Given the description of an element on the screen output the (x, y) to click on. 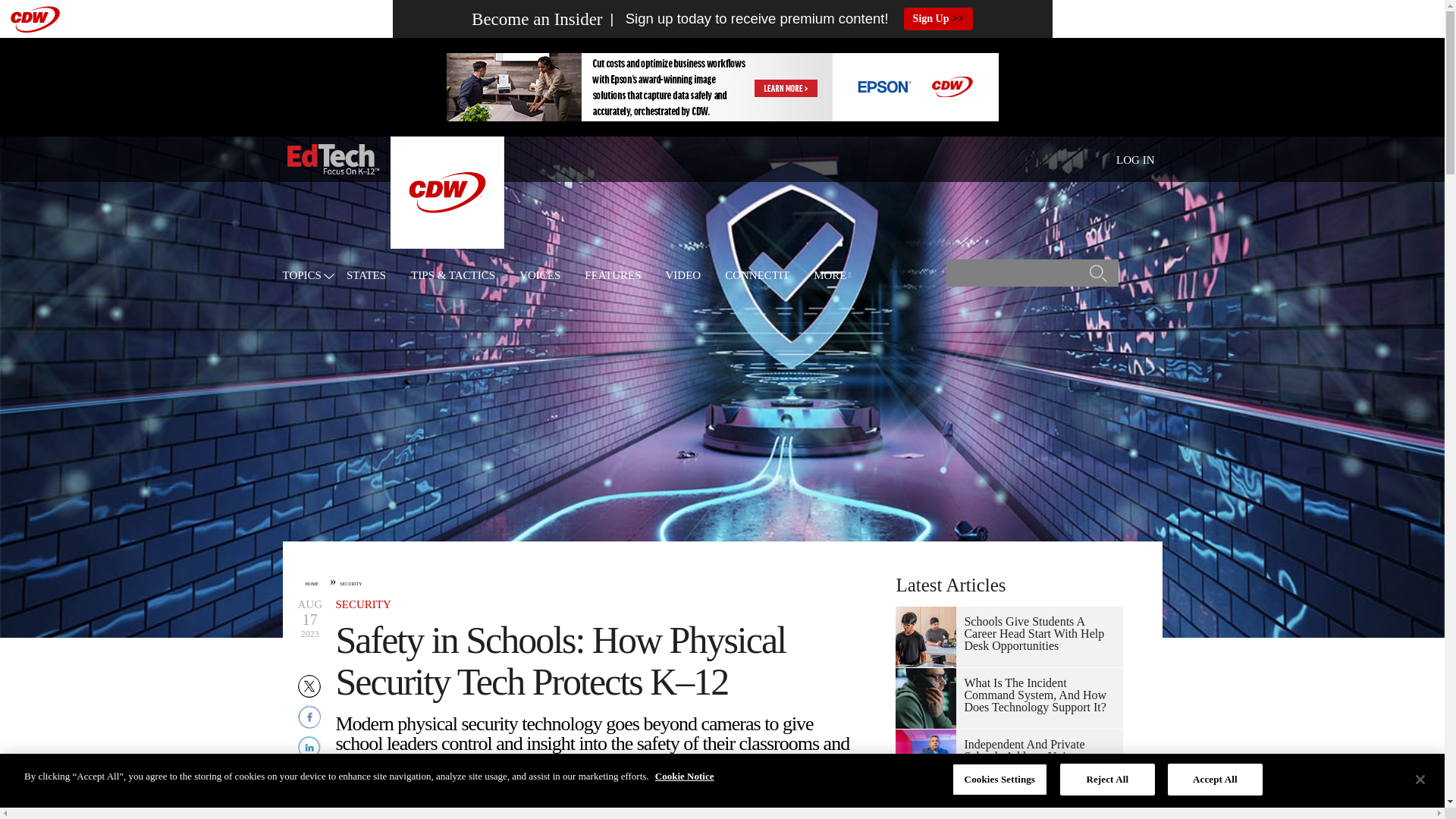
LOG IN (1135, 159)
Home (332, 158)
Search (1097, 278)
Sign Up (938, 18)
CDW (446, 244)
Search (1097, 278)
STATES (365, 275)
Sign up today to receive premium content! (745, 19)
VOICES (539, 275)
Become an Insider (536, 18)
User menu (1135, 160)
advertisement (721, 87)
FEATURES (612, 275)
